Given the description of an element on the screen output the (x, y) to click on. 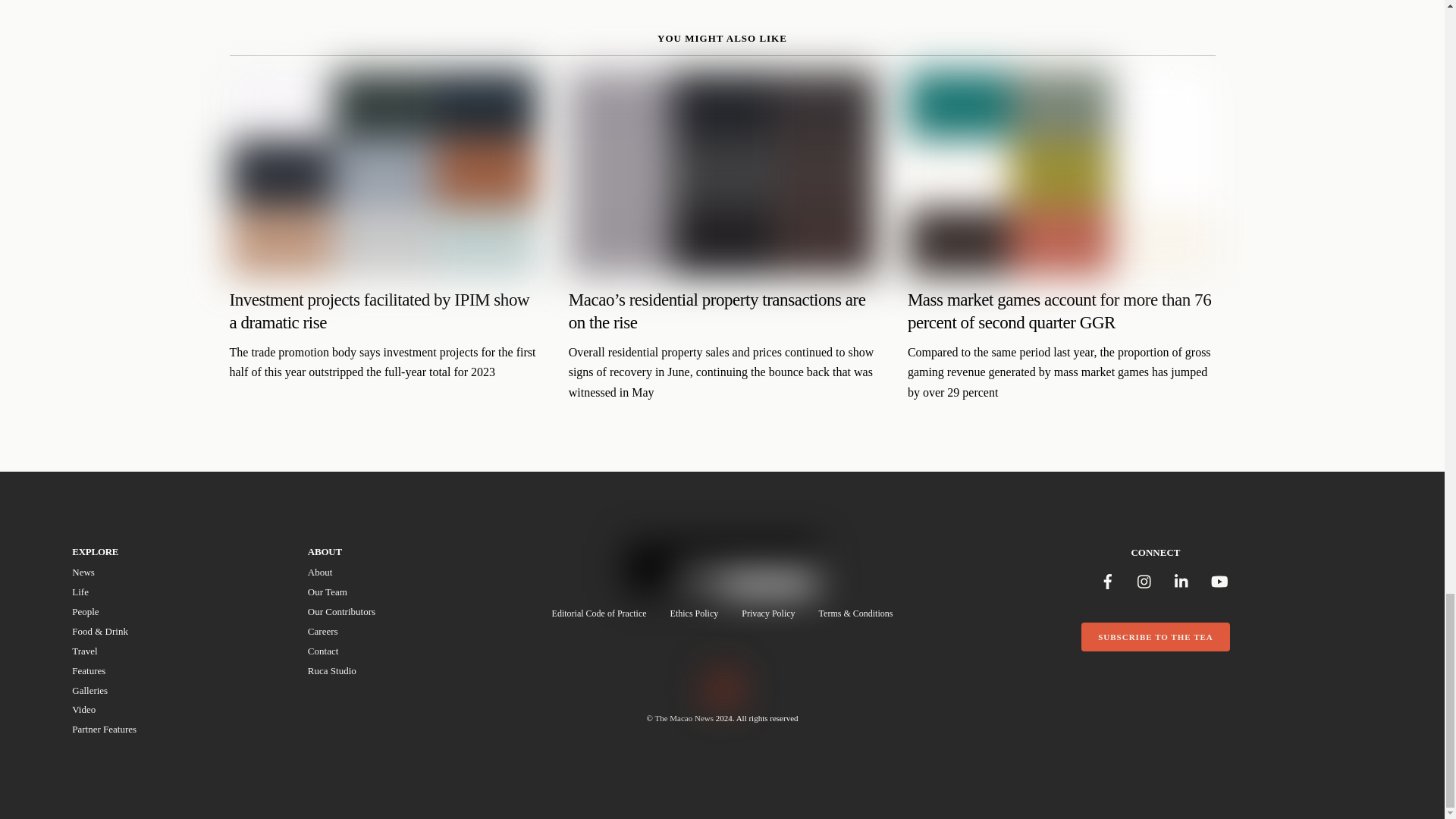
Investment projects facilitated by IPIM show a dramatic rise (406, 624)
